Given the description of an element on the screen output the (x, y) to click on. 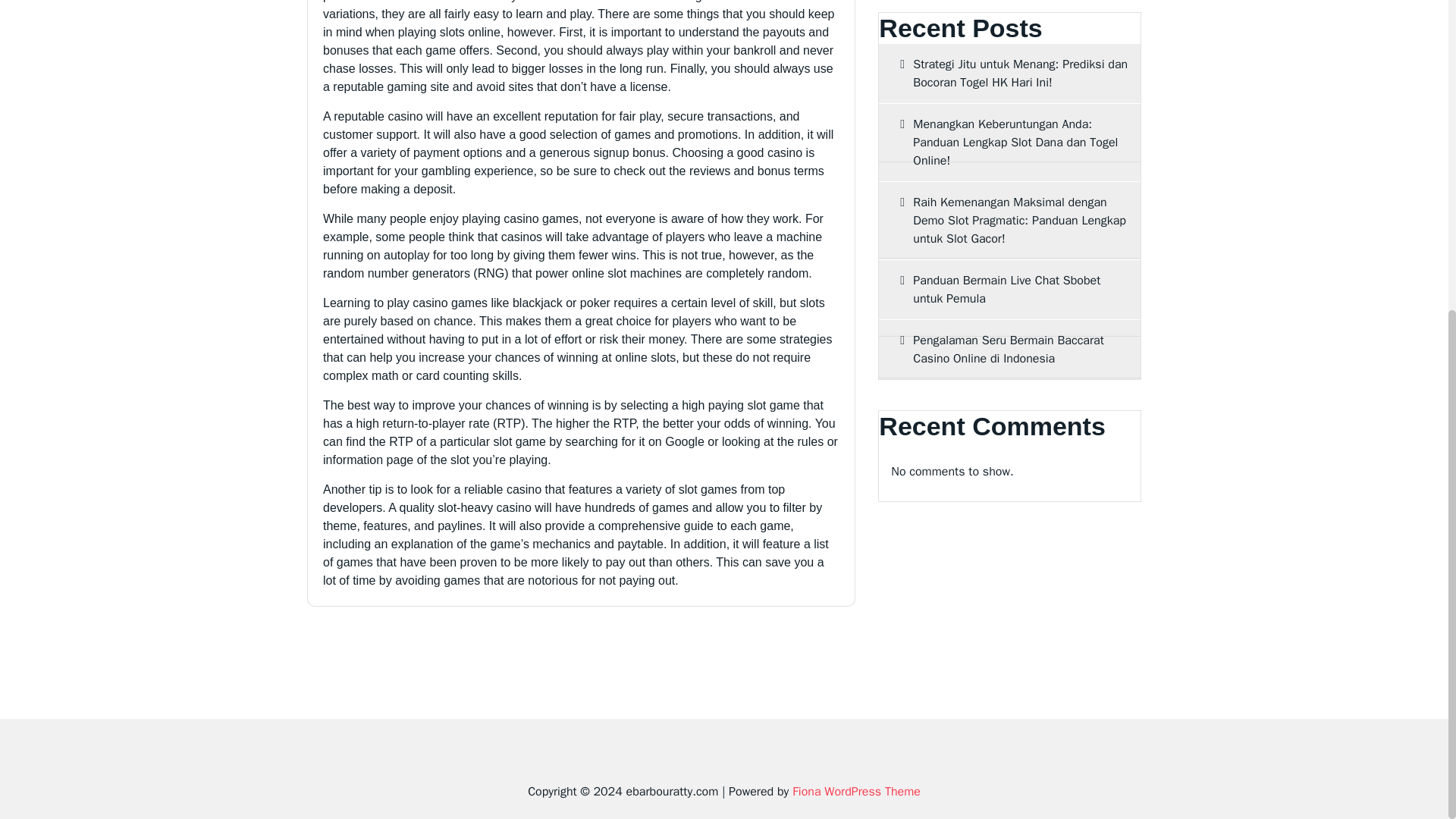
Panduan Bermain Live Chat Sbobet untuk Pemula (1009, 289)
Fiona WordPress Theme (856, 791)
Pengalaman Seru Bermain Baccarat Casino Online di Indonesia (1009, 349)
